Given the description of an element on the screen output the (x, y) to click on. 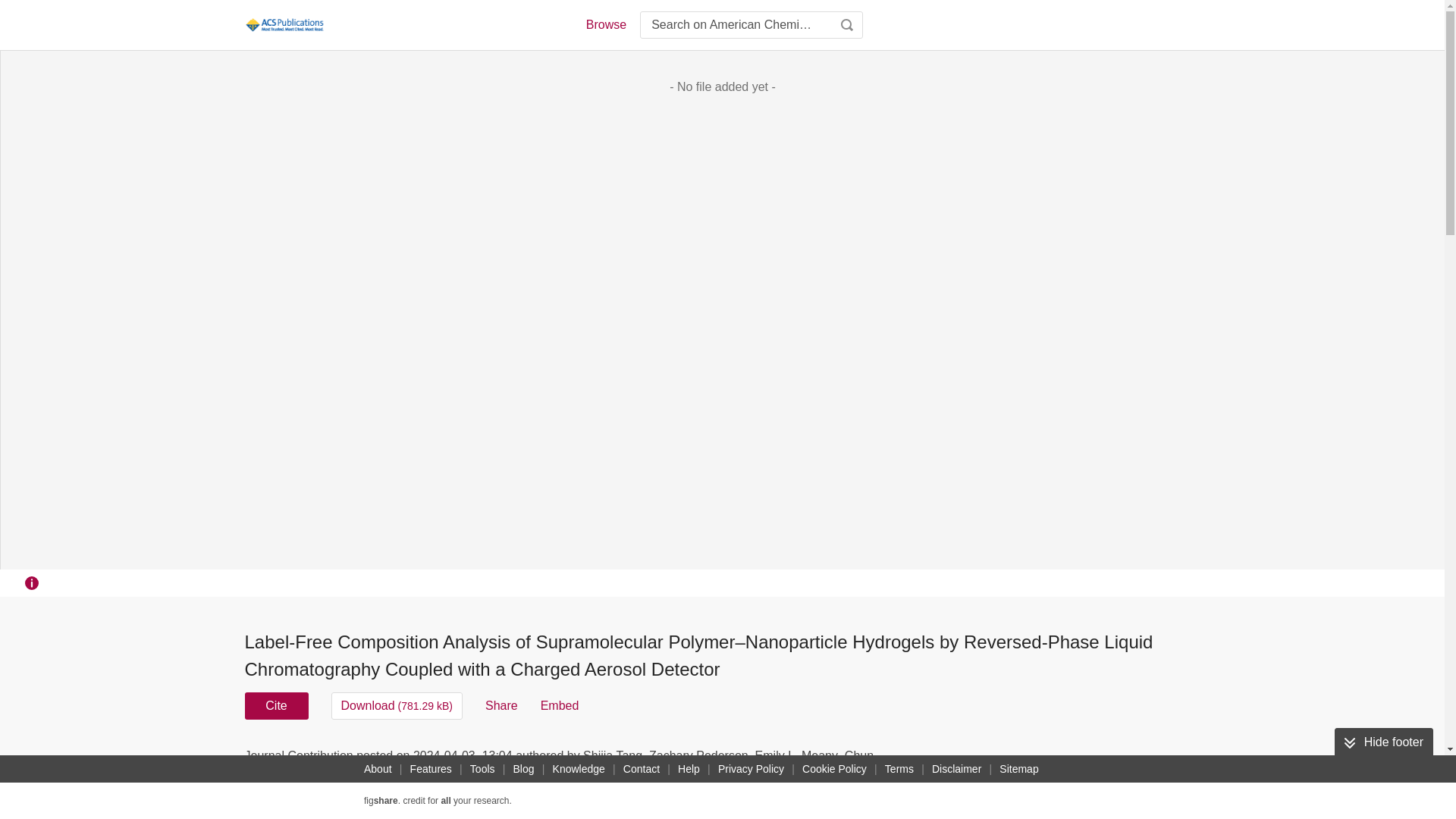
Cite (275, 705)
USAGE METRICS (976, 759)
Share (501, 705)
Embed (559, 705)
Browse (605, 24)
